Given the description of an element on the screen output the (x, y) to click on. 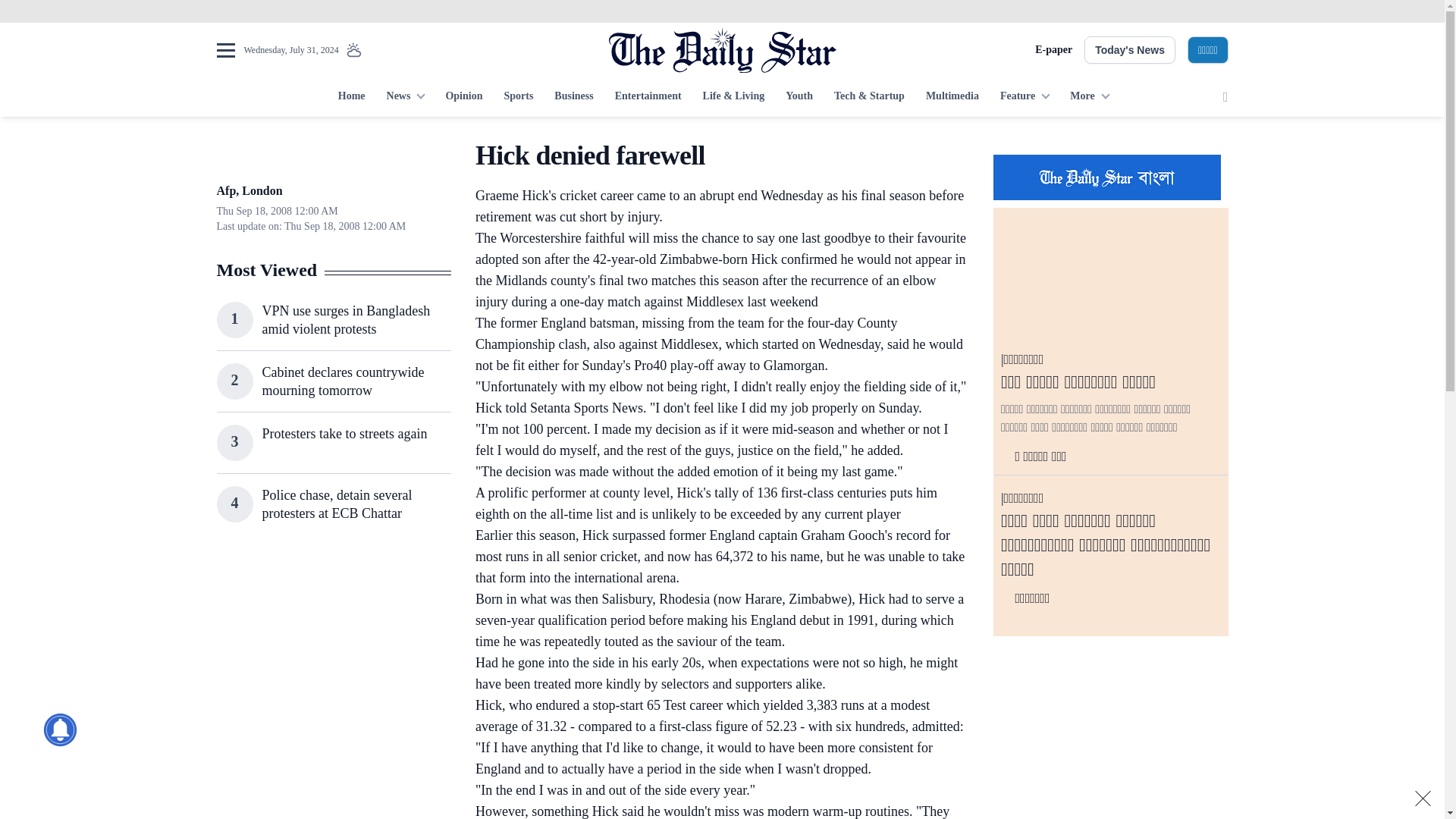
Feature (1024, 96)
Sports (518, 96)
E-paper (1053, 49)
Entertainment (647, 96)
Youth (799, 96)
News (405, 96)
Today's News (1129, 49)
Opinion (463, 96)
Home (351, 96)
Business (573, 96)
Multimedia (952, 96)
